Given the description of an element on the screen output the (x, y) to click on. 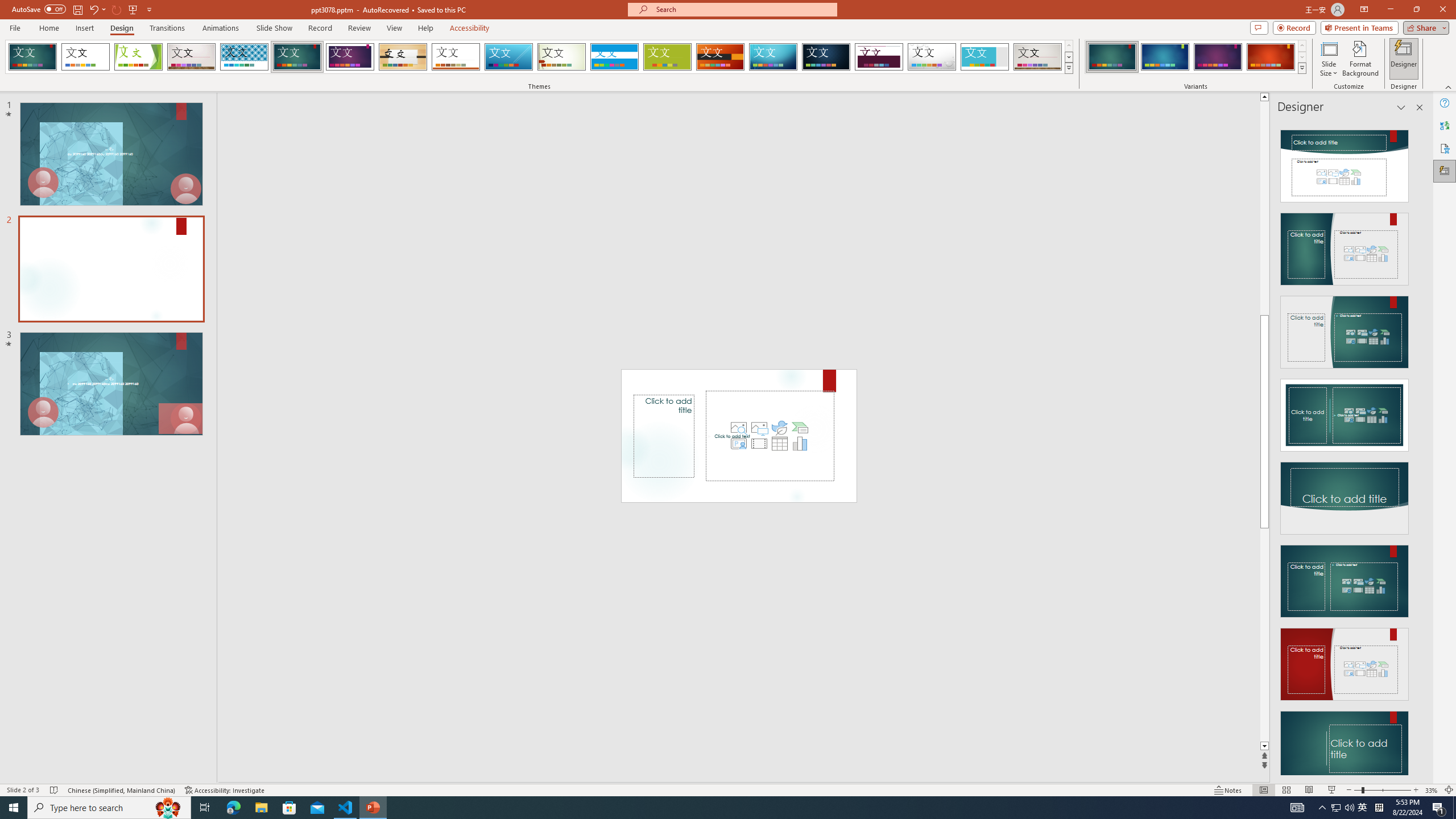
Insert a SmartArt Graphic (799, 427)
Integral (244, 56)
Ion Boardroom (350, 56)
Damask (826, 56)
Banded (614, 56)
Ion Variant 4 (1270, 56)
Recommended Design: Design Idea (1344, 162)
